Given the description of an element on the screen output the (x, y) to click on. 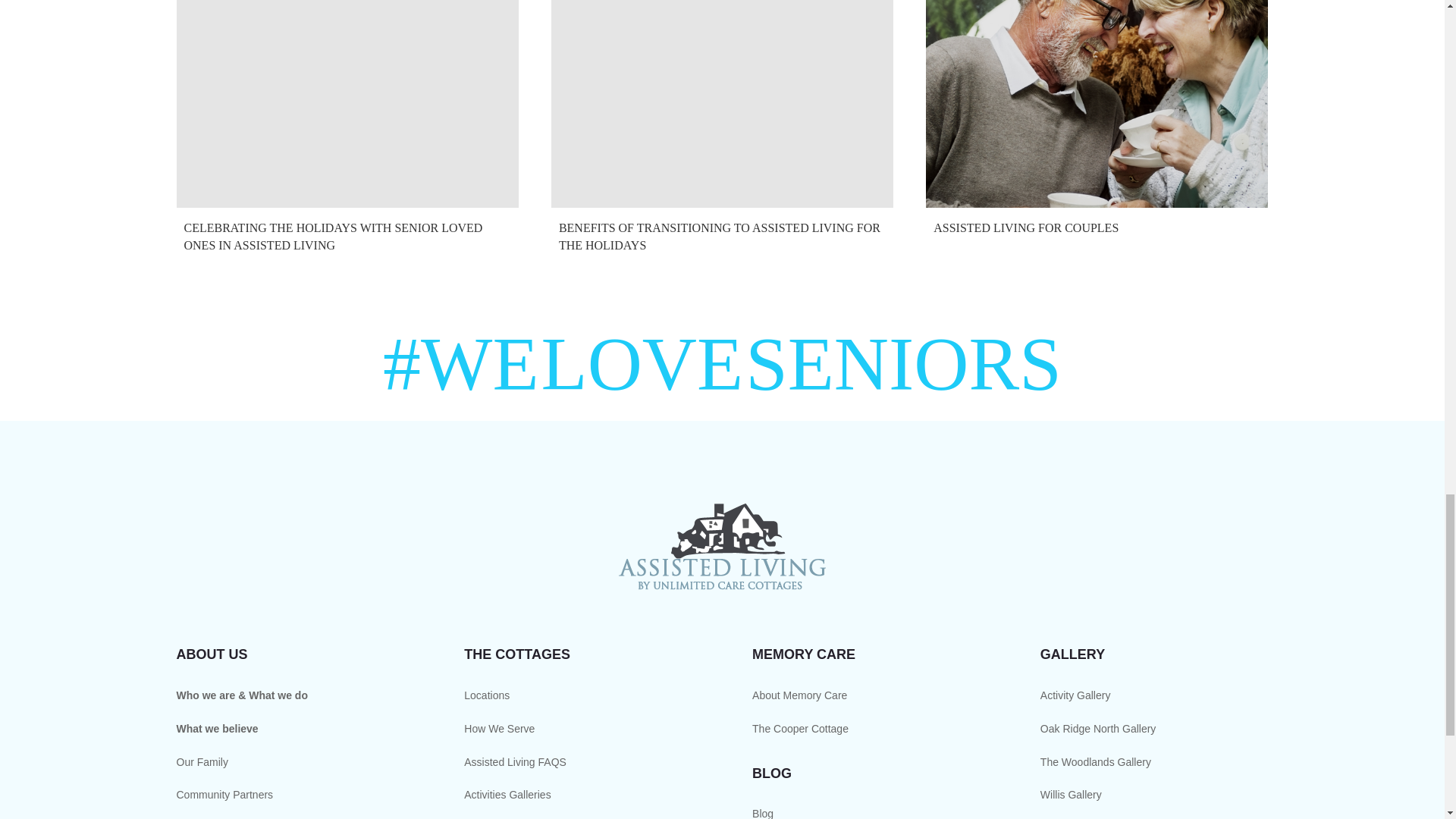
Assisted Living for Couples (1097, 124)
logo (722, 546)
